Given the description of an element on the screen output the (x, y) to click on. 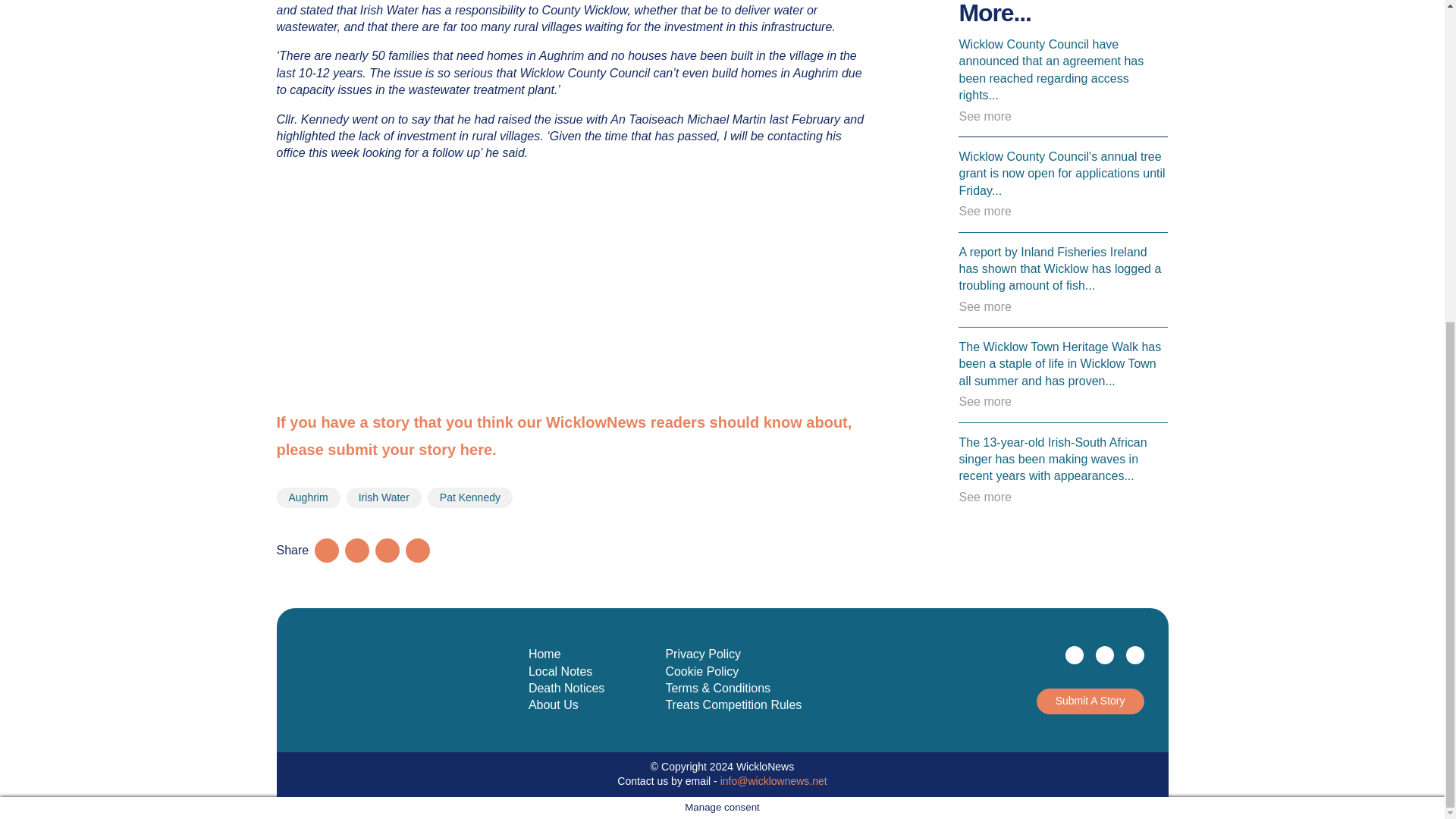
Irish Water (384, 497)
Pat Kennedy (470, 497)
Aughrim (307, 497)
